Given the description of an element on the screen output the (x, y) to click on. 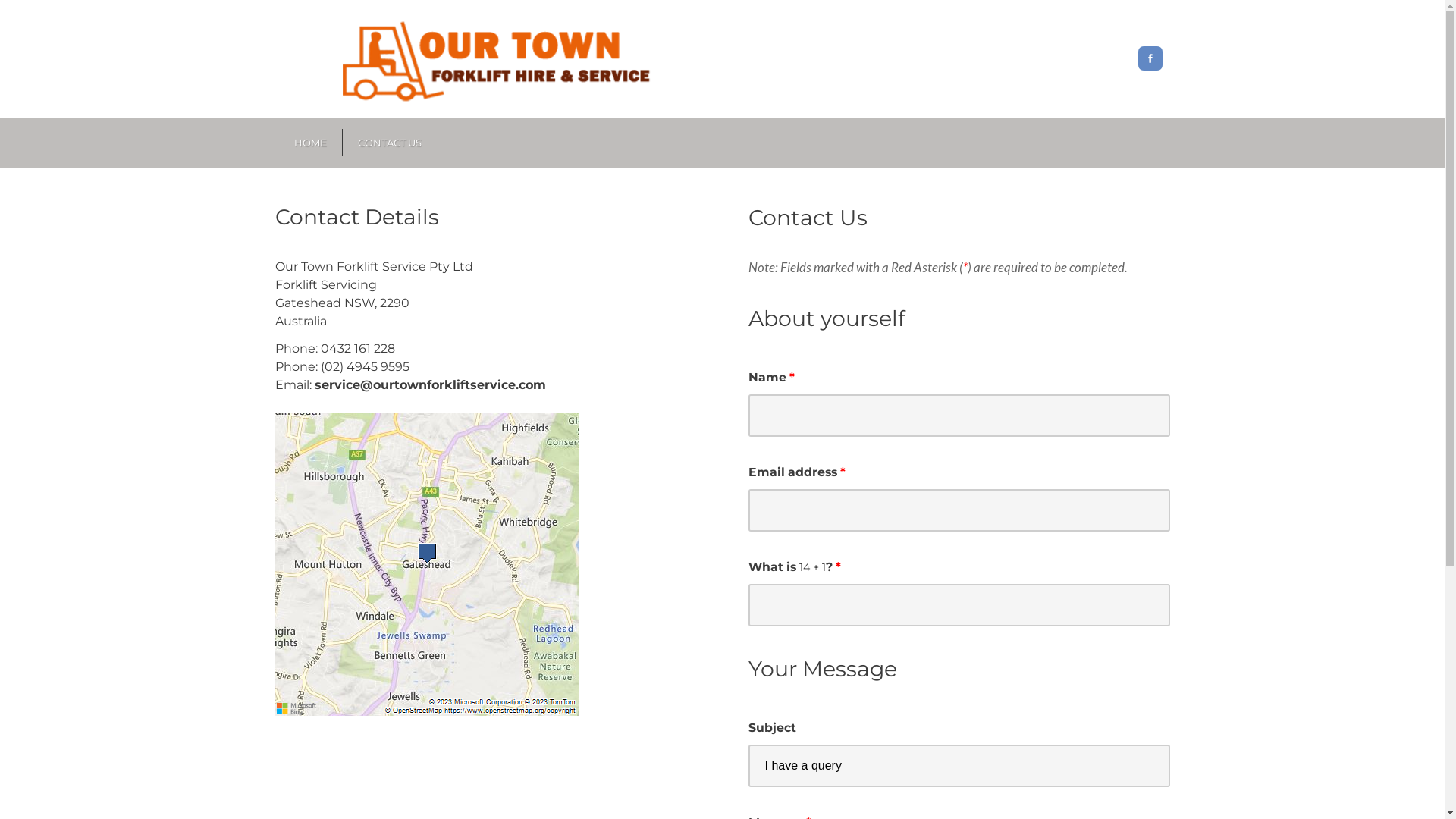
service@ourtownforkliftservice.com Element type: text (429, 384)
Facebook Element type: text (1149, 58)
CONTACT US Element type: text (389, 142)
HOME Element type: text (310, 142)
